Given the description of an element on the screen output the (x, y) to click on. 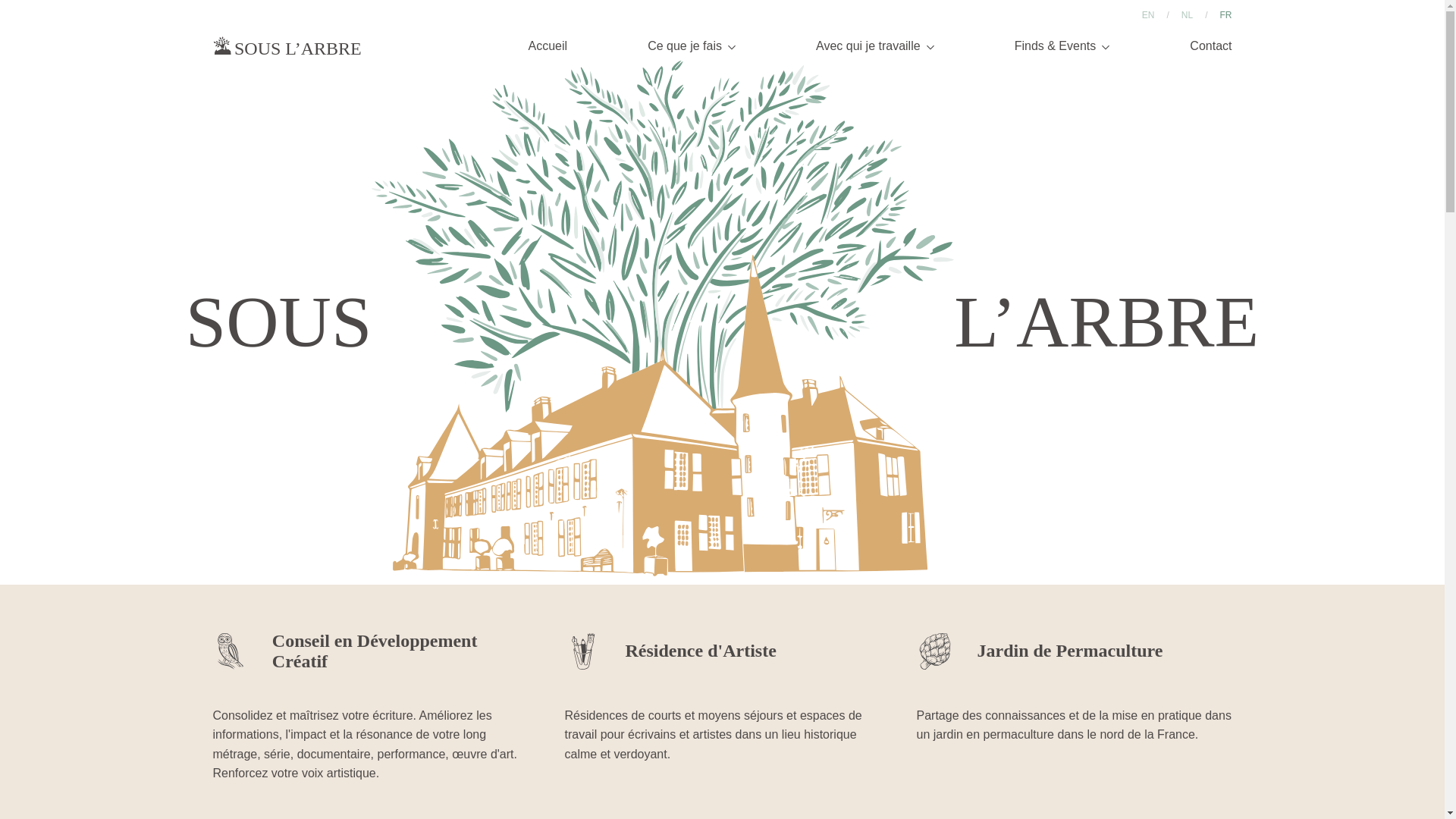
Contact (1210, 46)
EN (1147, 14)
Ce que je fais (691, 46)
FR (1225, 14)
NL (1186, 14)
Avec qui je travaille (874, 46)
Accueil (547, 46)
